Given the description of an element on the screen output the (x, y) to click on. 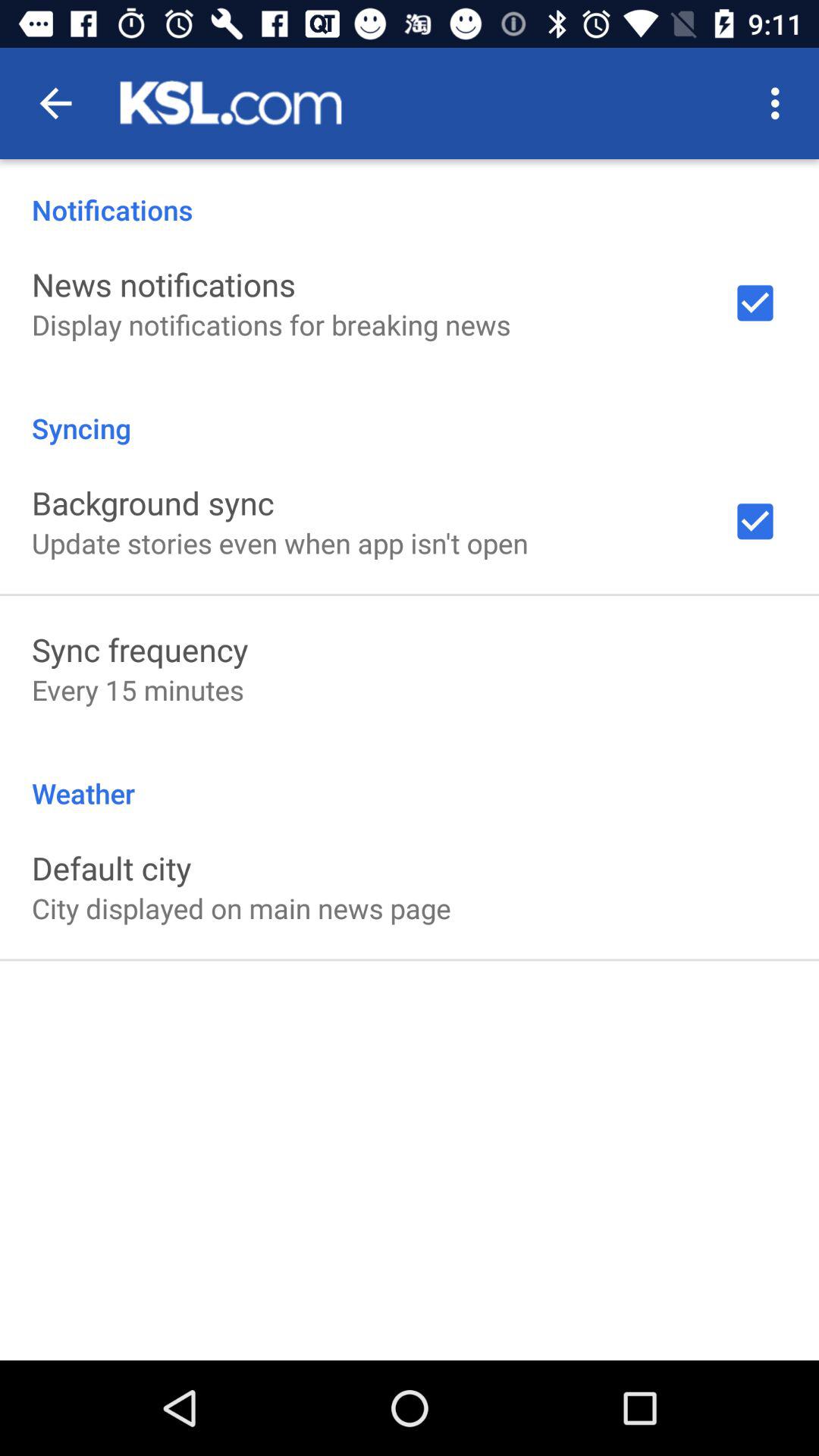
choose the weather item (409, 777)
